Given the description of an element on the screen output the (x, y) to click on. 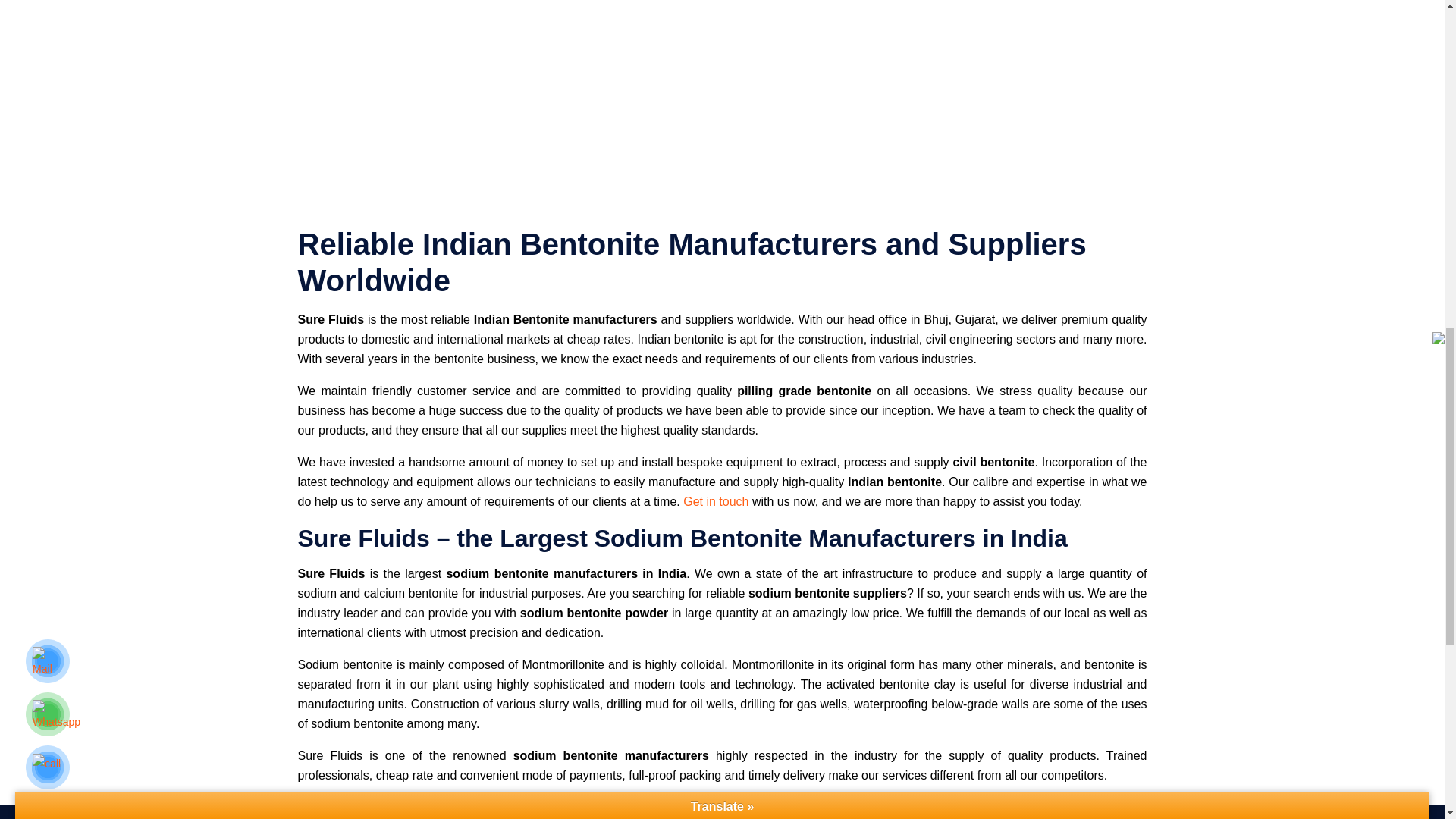
Get in touch (715, 501)
